Given the description of an element on the screen output the (x, y) to click on. 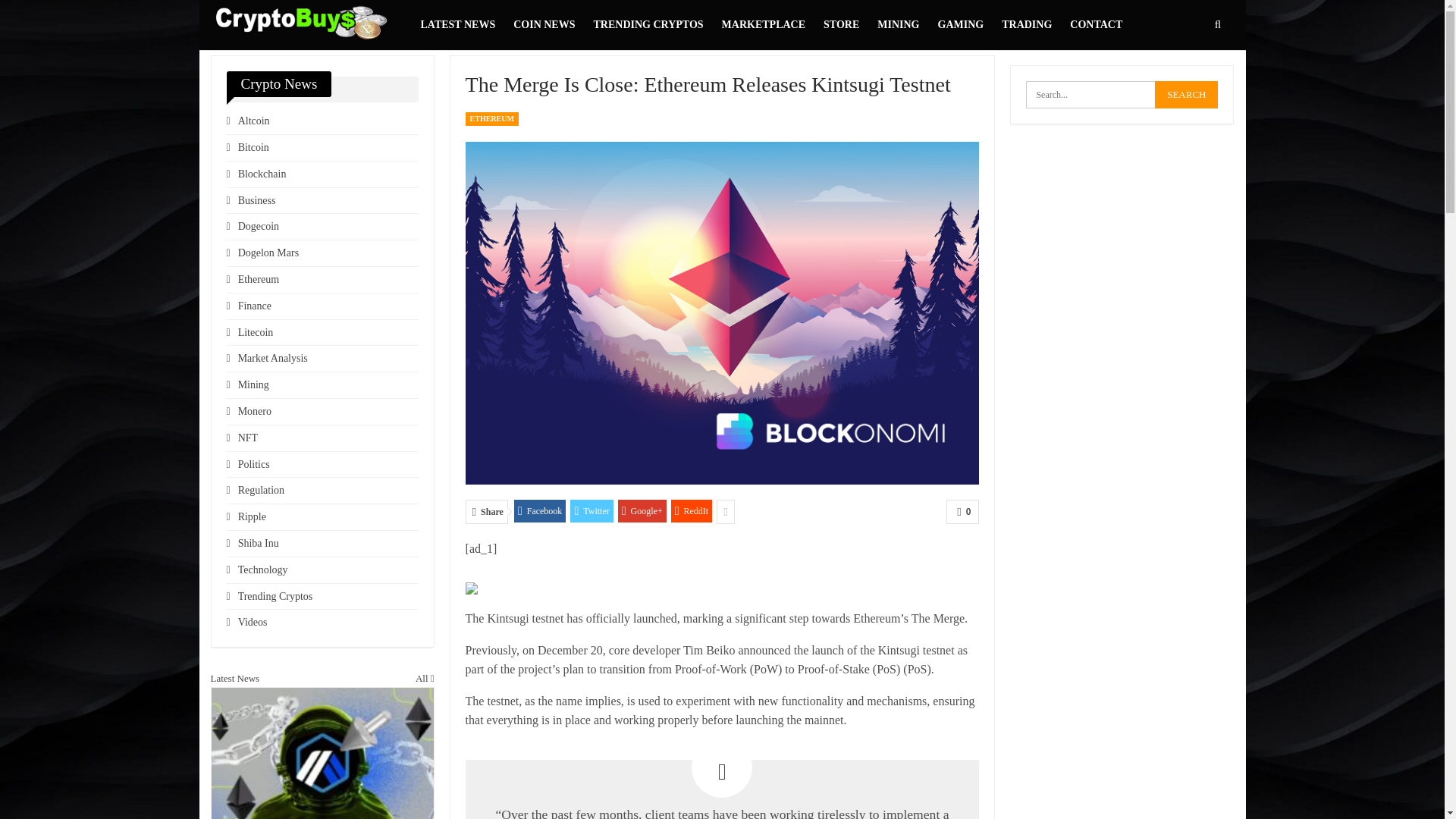
COIN NEWS (543, 24)
LATEST NEWS (457, 24)
Search (1185, 94)
Search (1185, 94)
